Given the description of an element on the screen output the (x, y) to click on. 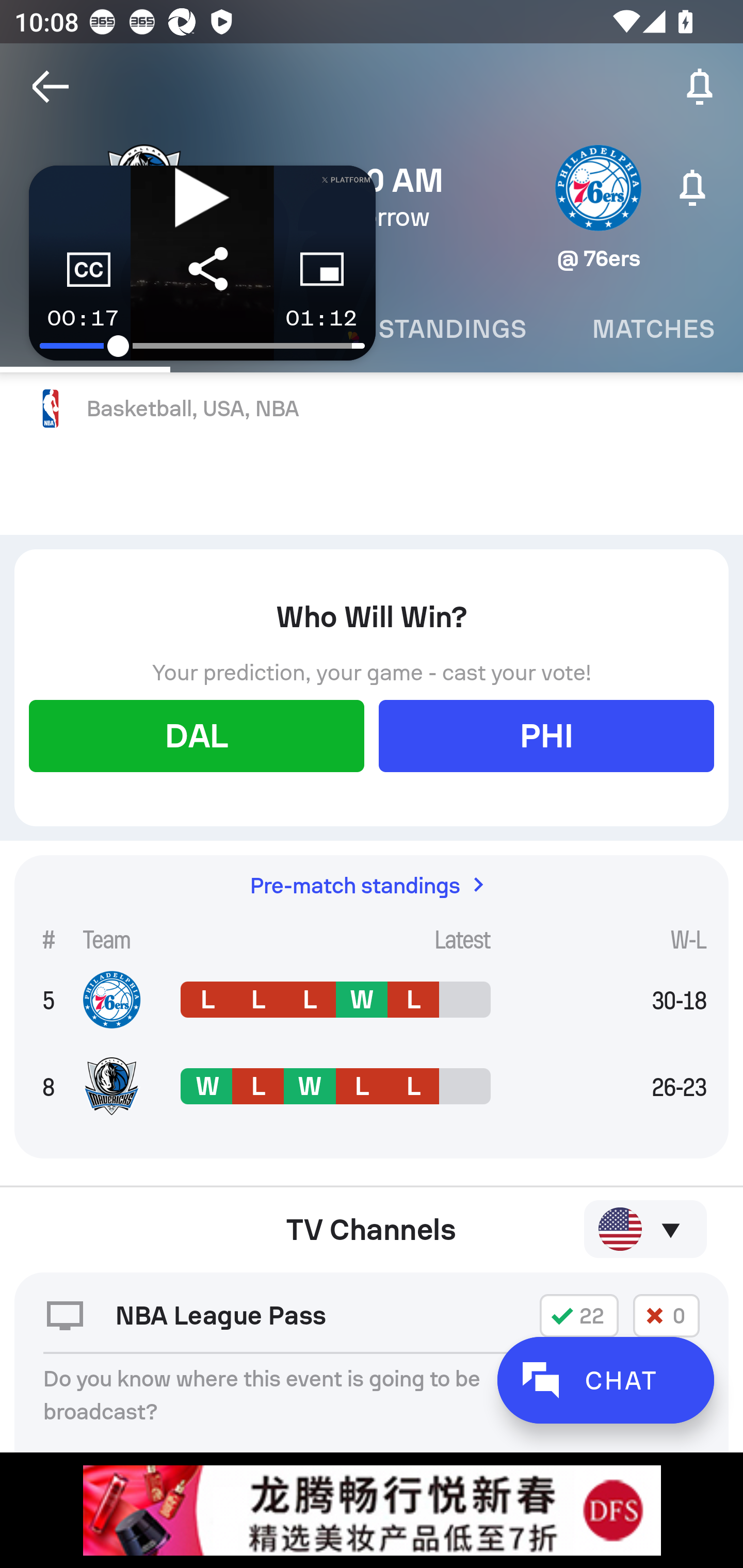
Navigate up (50, 86)
Standings STANDINGS (451, 329)
Matches MATCHES (650, 329)
Basketball, USA, NBA (371, 409)
DAL (196, 735)
PHI (546, 735)
22 (578, 1315)
0 (666, 1315)
CHAT (605, 1380)
